Given the description of an element on the screen output the (x, y) to click on. 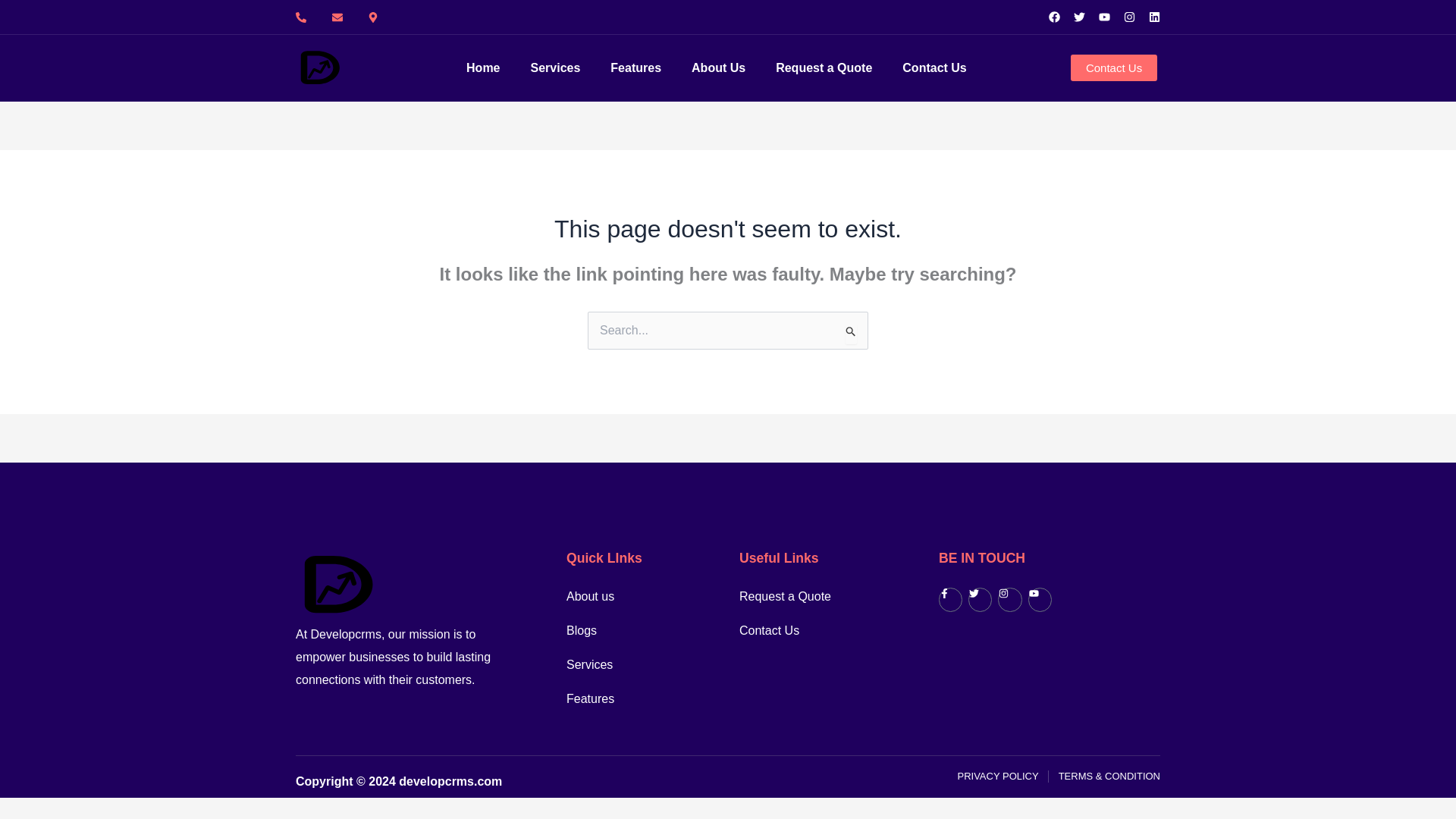
Request a Quote (824, 68)
Youtube (1039, 599)
Twitter (1079, 16)
Home (482, 68)
Contact Us (1113, 67)
Facebook-f (950, 599)
Contact Us (804, 630)
About us (631, 596)
Youtube (1104, 16)
Features (635, 68)
Twitter (979, 599)
About Us (718, 68)
Services (555, 68)
Request a Quote (804, 596)
Features (631, 698)
